Given the description of an element on the screen output the (x, y) to click on. 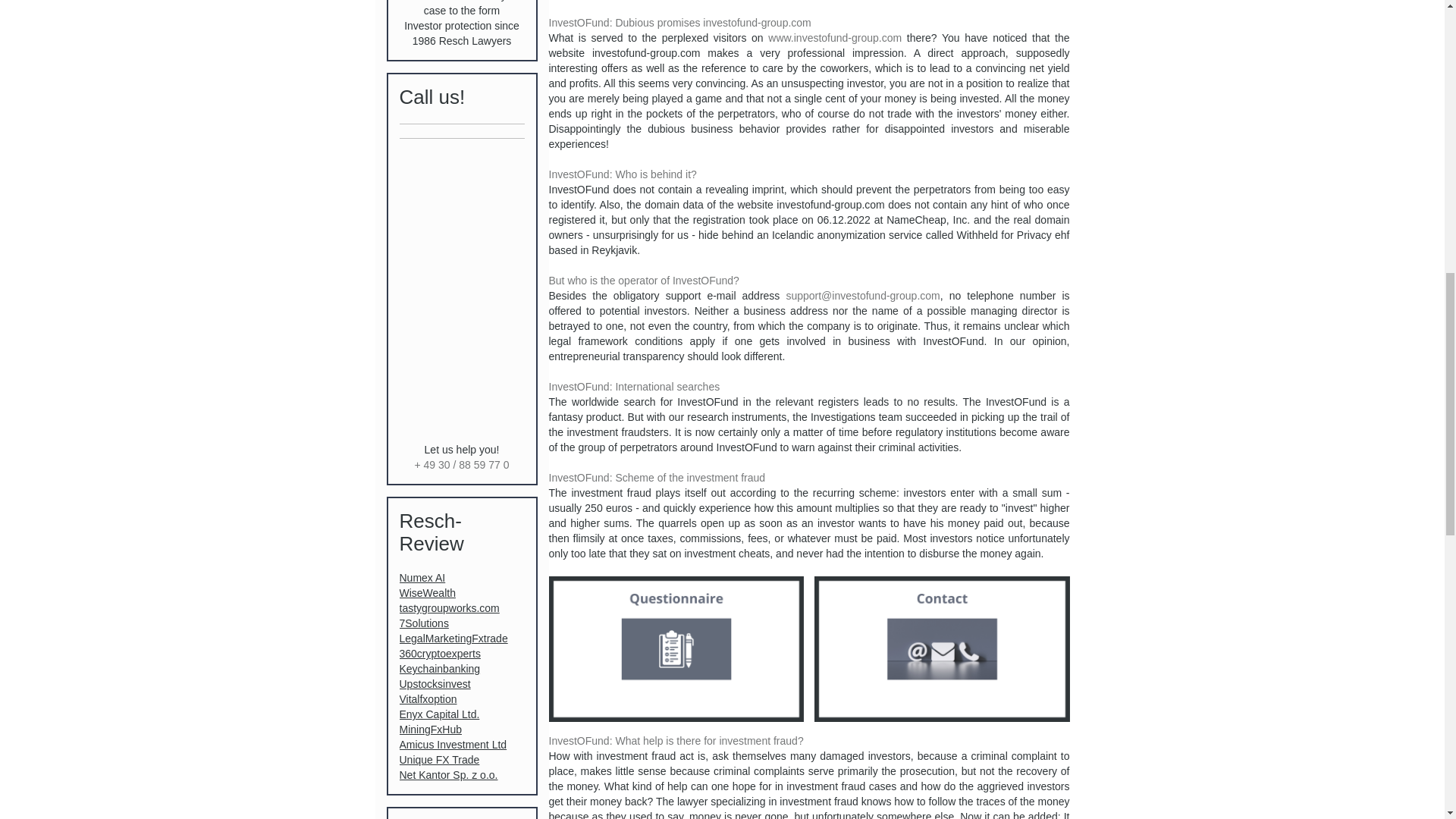
WiseWealth (426, 592)
LegalMarketingFxtrade (452, 638)
Contact - Email - Phone (941, 648)
Numex AI (421, 577)
Call us! (431, 96)
Questionnaire - Form (676, 648)
Keychainbanking (439, 668)
Vitalfxoption (427, 698)
360cryptoexperts (439, 653)
tastygroupworks.com (448, 607)
